Given the description of an element on the screen output the (x, y) to click on. 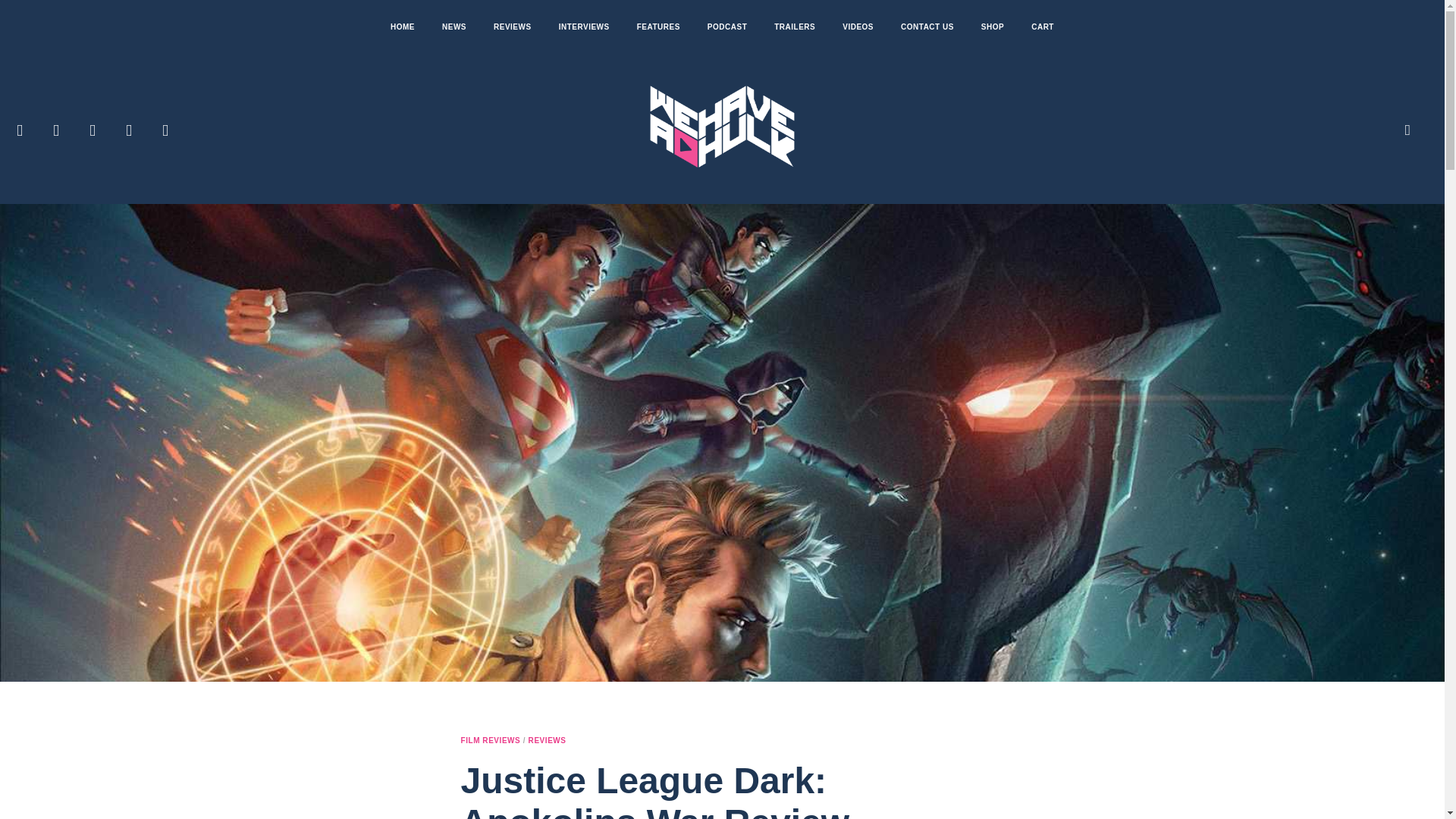
CART (1042, 27)
FEATURES (658, 27)
SHOP (992, 27)
NEWS (454, 27)
TRAILERS (794, 27)
PODCAST (727, 27)
VIDEOS (857, 27)
HOME (402, 27)
REVIEWS (512, 27)
INTERVIEWS (583, 27)
CONTACT US (927, 27)
